Given the description of an element on the screen output the (x, y) to click on. 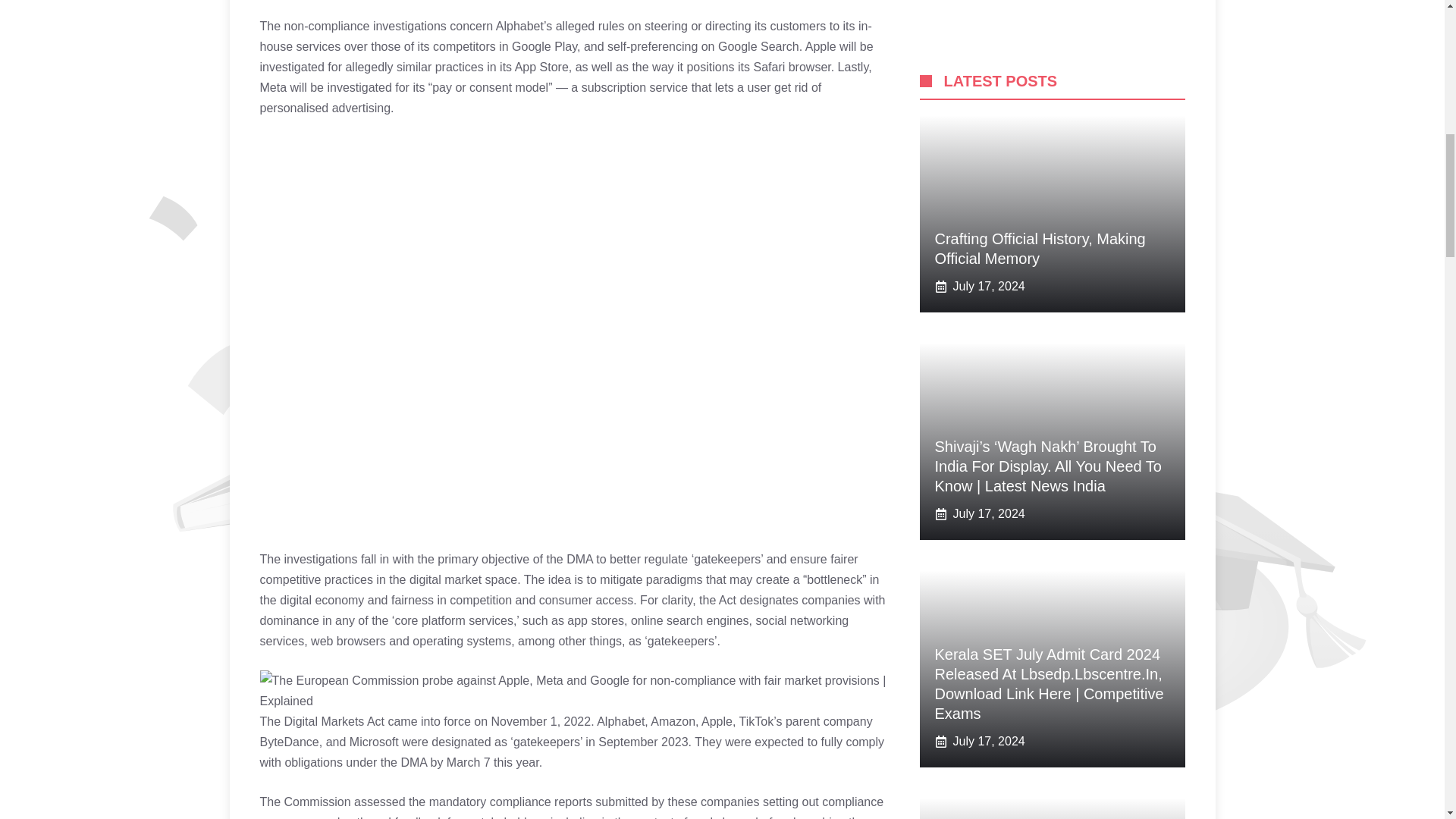
Crafting official history, making official memory (1083, 697)
